Given the description of an element on the screen output the (x, y) to click on. 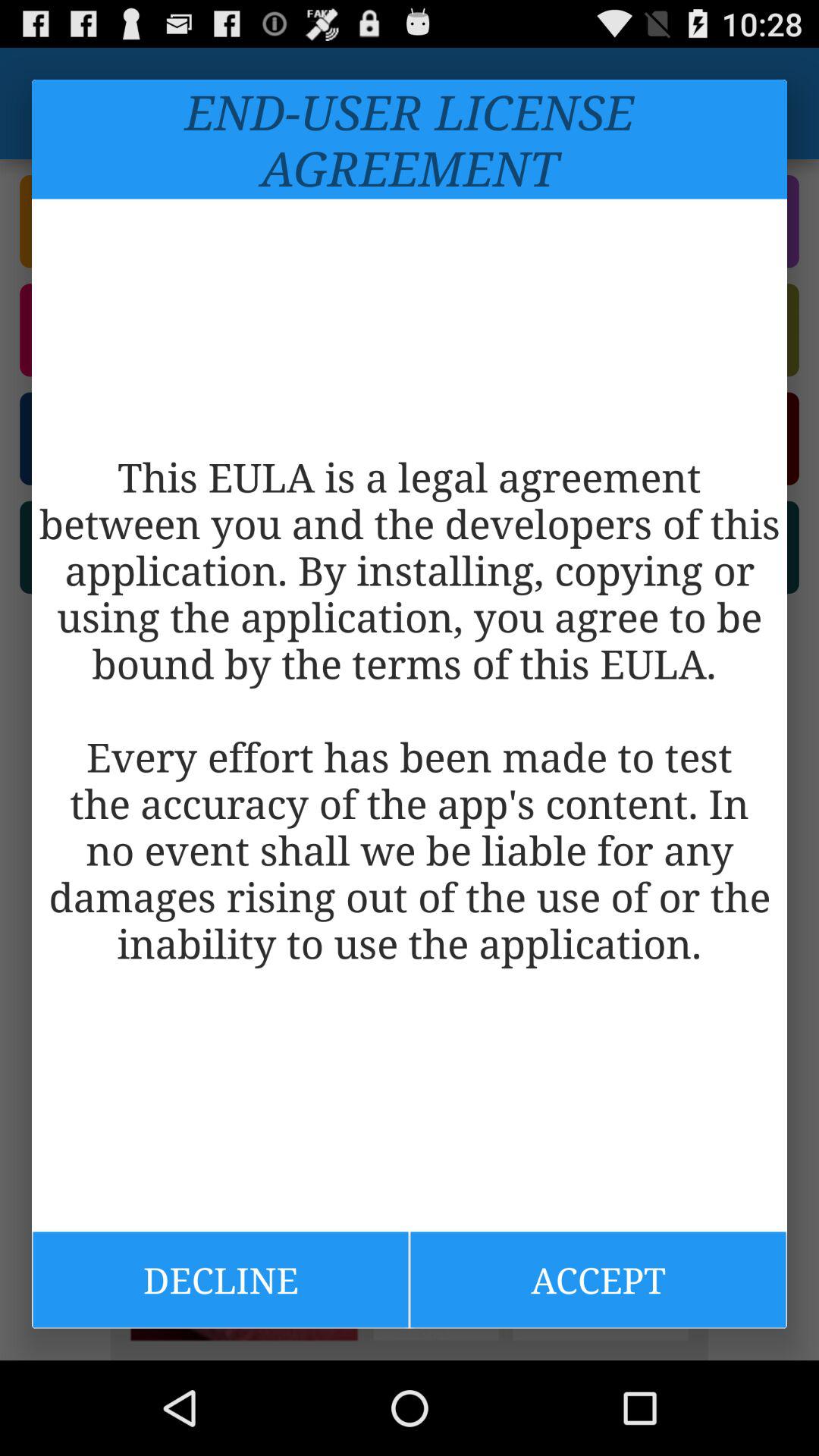
jump until the end user license item (409, 139)
